Given the description of an element on the screen output the (x, y) to click on. 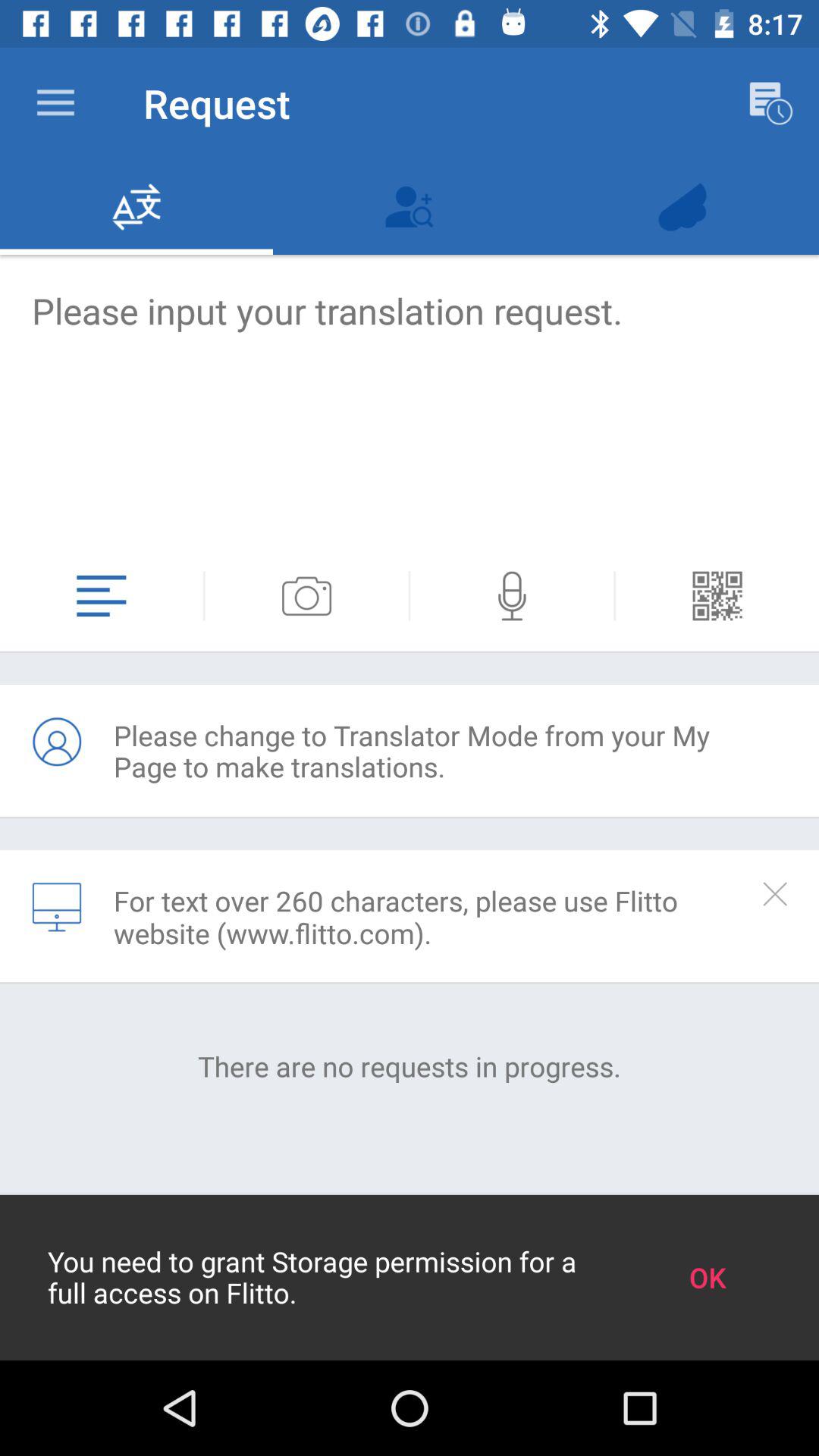
voice option button (511, 596)
